Given the description of an element on the screen output the (x, y) to click on. 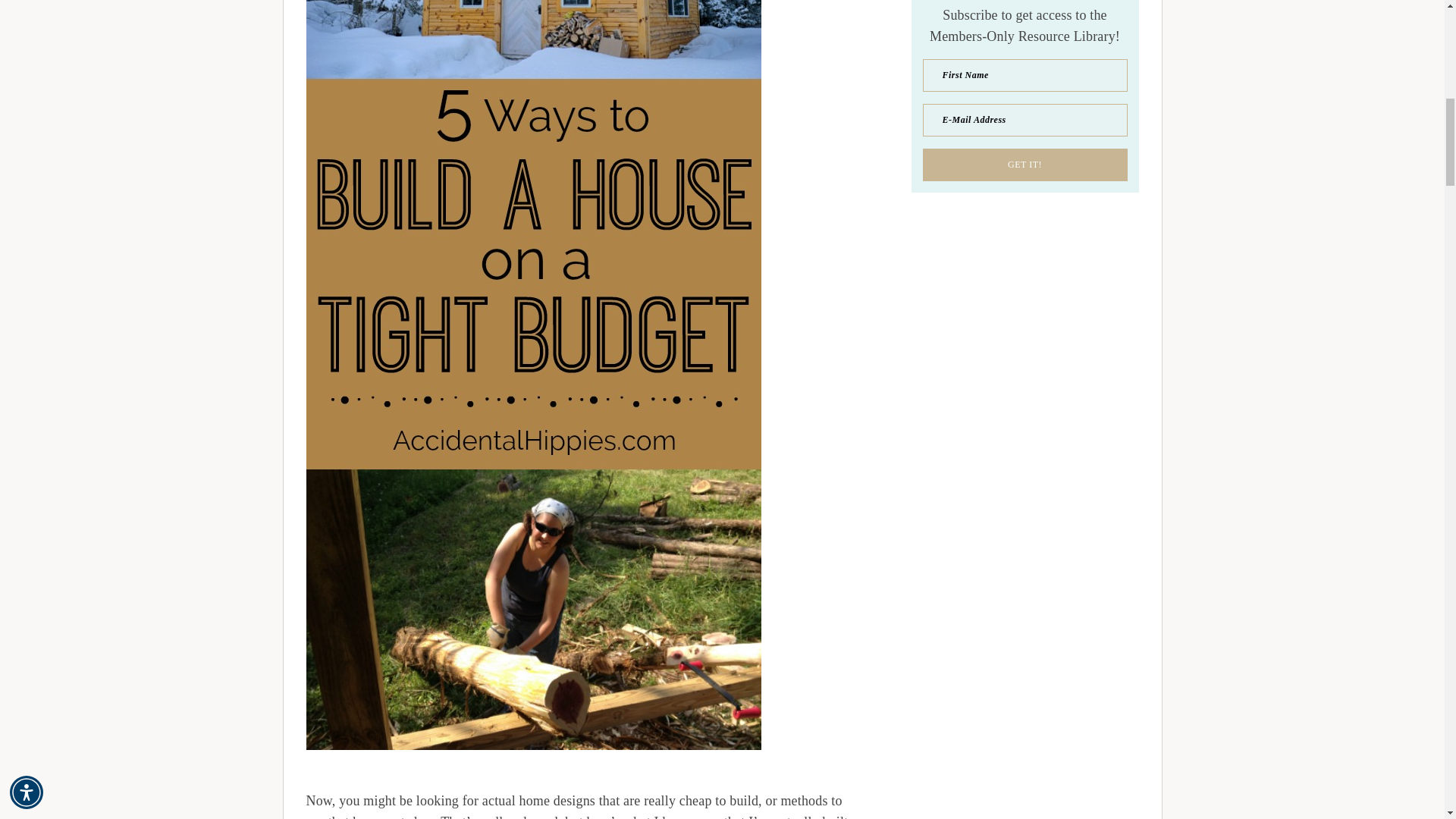
Get it! (1023, 164)
